Given the description of an element on the screen output the (x, y) to click on. 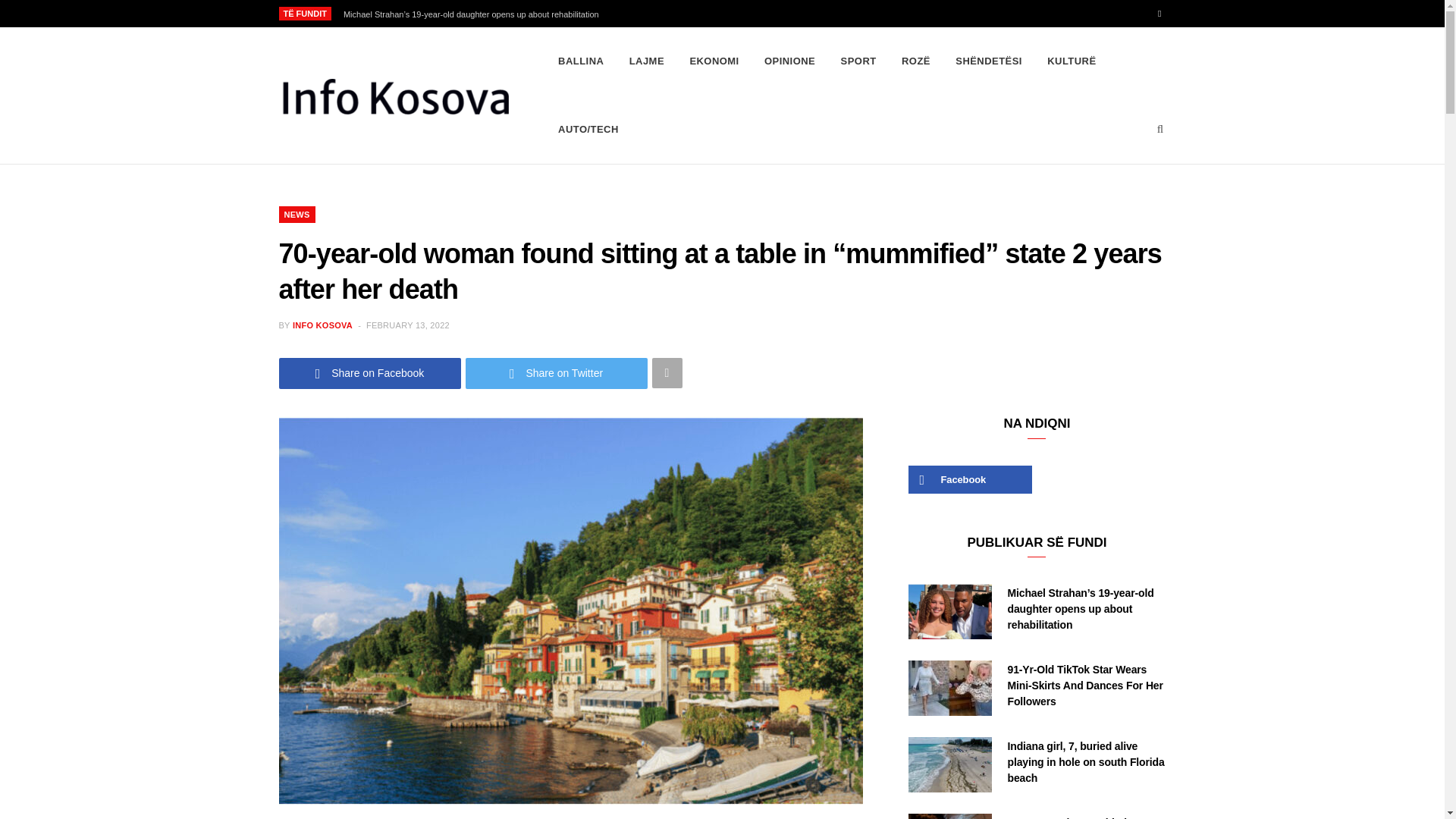
OPINIONE (789, 61)
FEBRUARY 13, 2022 (407, 325)
BALLINA (580, 61)
Download This Theme (580, 61)
EKONOMI (713, 61)
Info Kosova (394, 95)
Share on Twitter (556, 373)
Share on Facebook (370, 373)
Share on Twitter (556, 373)
Posts by Info Kosova (322, 325)
NEWS (297, 214)
Share on Facebook (370, 373)
INFO KOSOVA (322, 325)
